Given the description of an element on the screen output the (x, y) to click on. 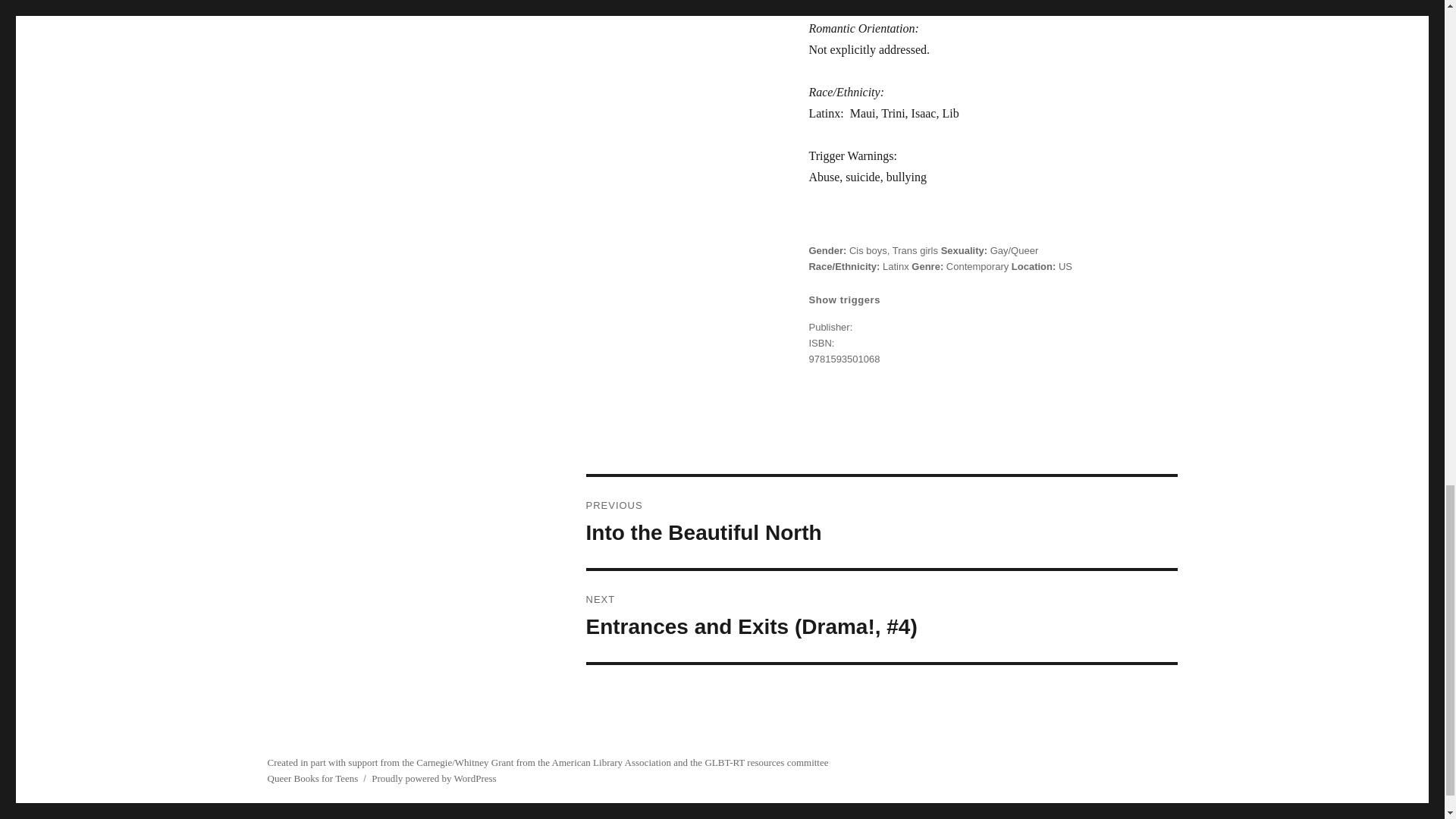
US (1064, 266)
Latinx (895, 266)
Cis boys (867, 250)
Contemporary (880, 522)
Trans girls (977, 266)
Show triggers (914, 250)
